Given the description of an element on the screen output the (x, y) to click on. 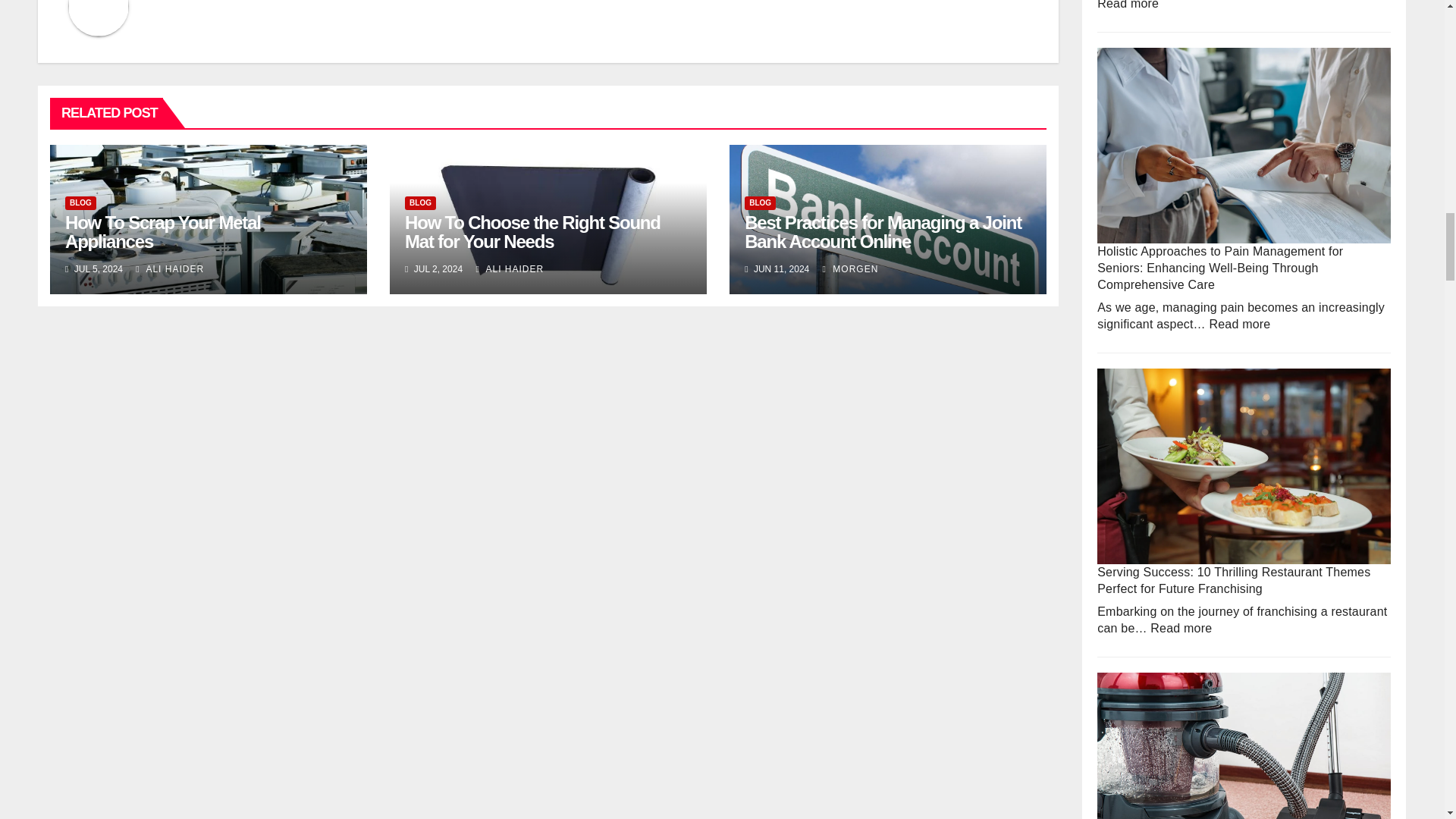
How To Scrap Your Metal Appliances (162, 231)
Permalink to: How To Scrap Your Metal Appliances (162, 231)
BLOG (80, 202)
BLOG (419, 202)
ALI HAIDER (169, 268)
How To Choose the Right Sound Mat for Your Needs (532, 231)
